Given the description of an element on the screen output the (x, y) to click on. 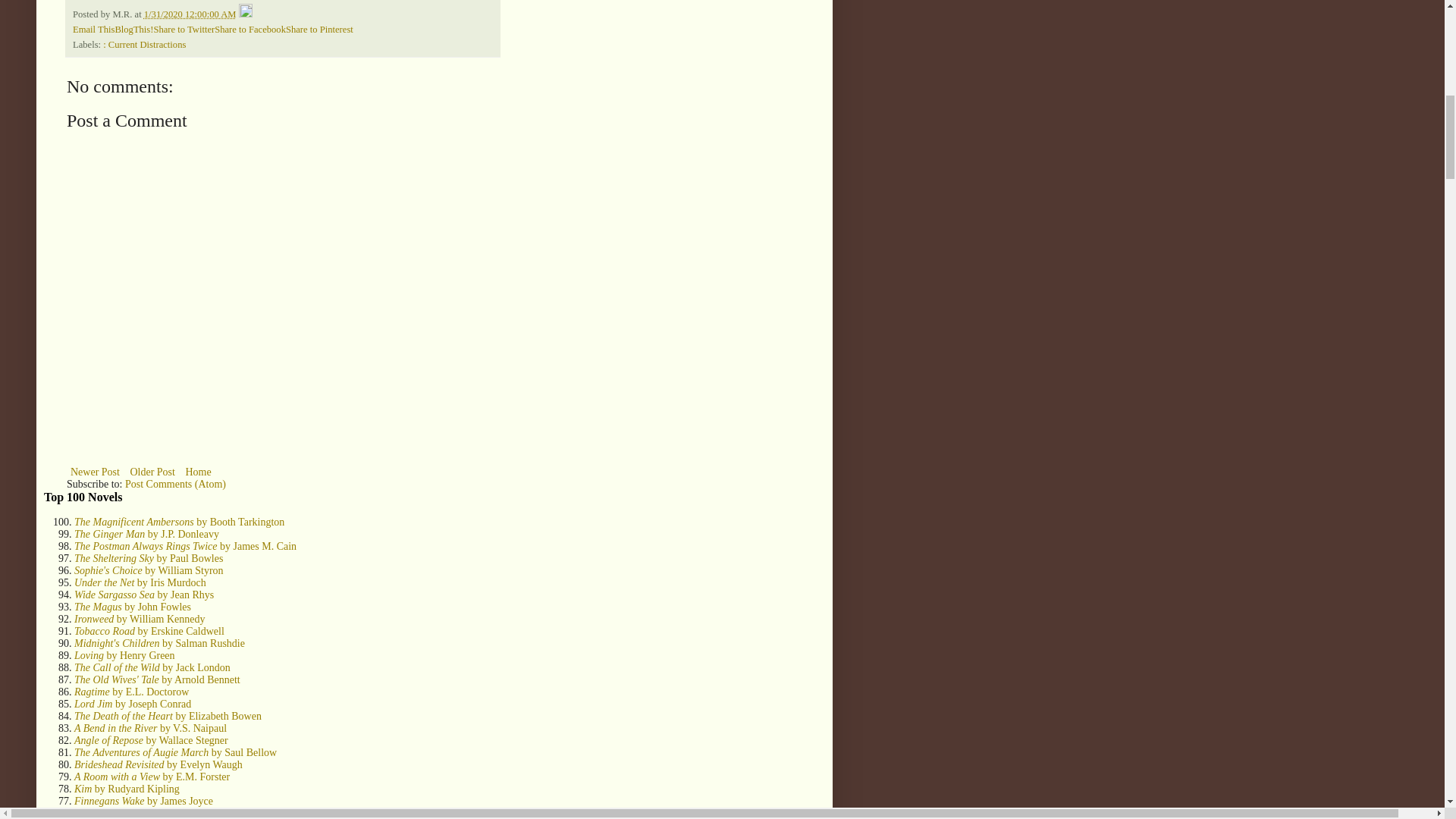
BlogThis! (133, 29)
Older Post (152, 471)
Email This (93, 29)
Under the Net by Iris Murdoch (140, 582)
The Magnificent Ambersons by Booth Tarkington (178, 521)
Share to Twitter (183, 29)
Sophie's Choice by William Styron (149, 570)
Share to Twitter (183, 29)
Share to Facebook (249, 29)
: Current Distractions (144, 44)
Edit Post (244, 14)
Wide Sargasso Sea by Jean Rhys (144, 594)
Midnight's Children by Salman Rushdie (159, 643)
Loving by Henry Green (124, 655)
Newer Post (94, 471)
